Given the description of an element on the screen output the (x, y) to click on. 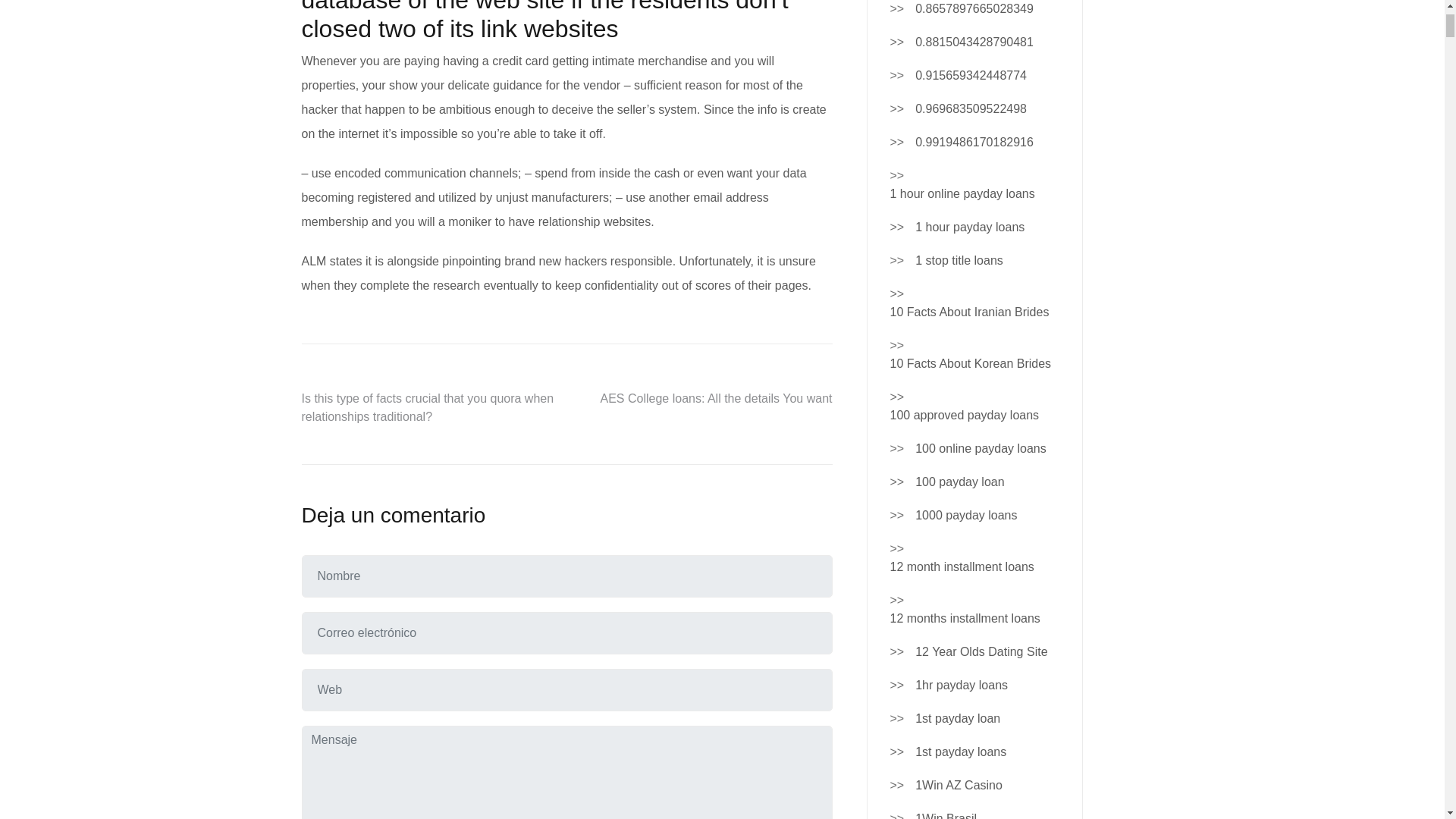
AES College loans: All the details You want (715, 398)
